Given the description of an element on the screen output the (x, y) to click on. 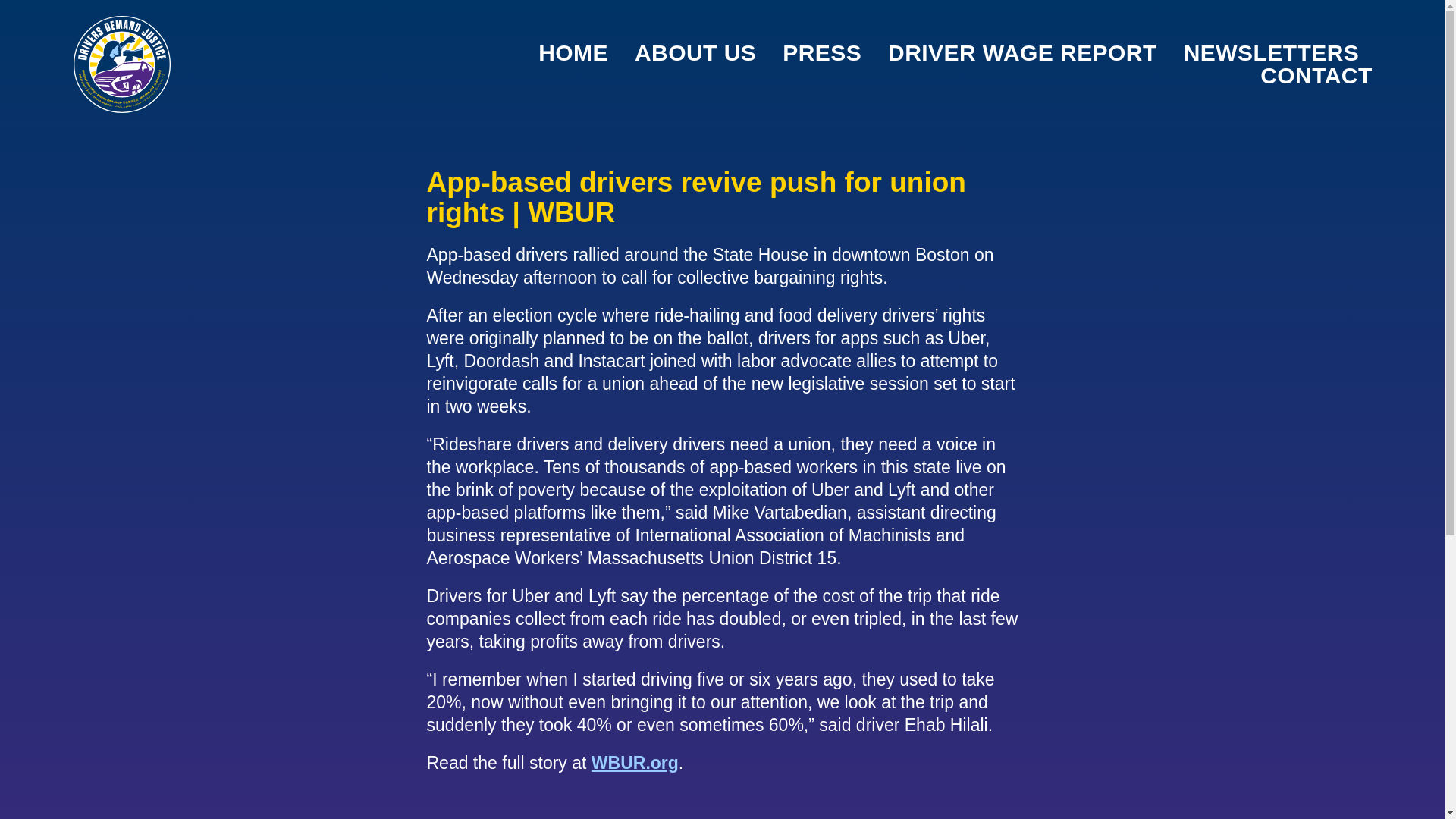
PRESS (822, 52)
DRIVER WAGE REPORT (1022, 52)
NEWSLETTERS (1271, 52)
CONTACT (1316, 75)
ABOUT US (694, 52)
HOME (573, 52)
WBUR.org (634, 762)
